Given the description of an element on the screen output the (x, y) to click on. 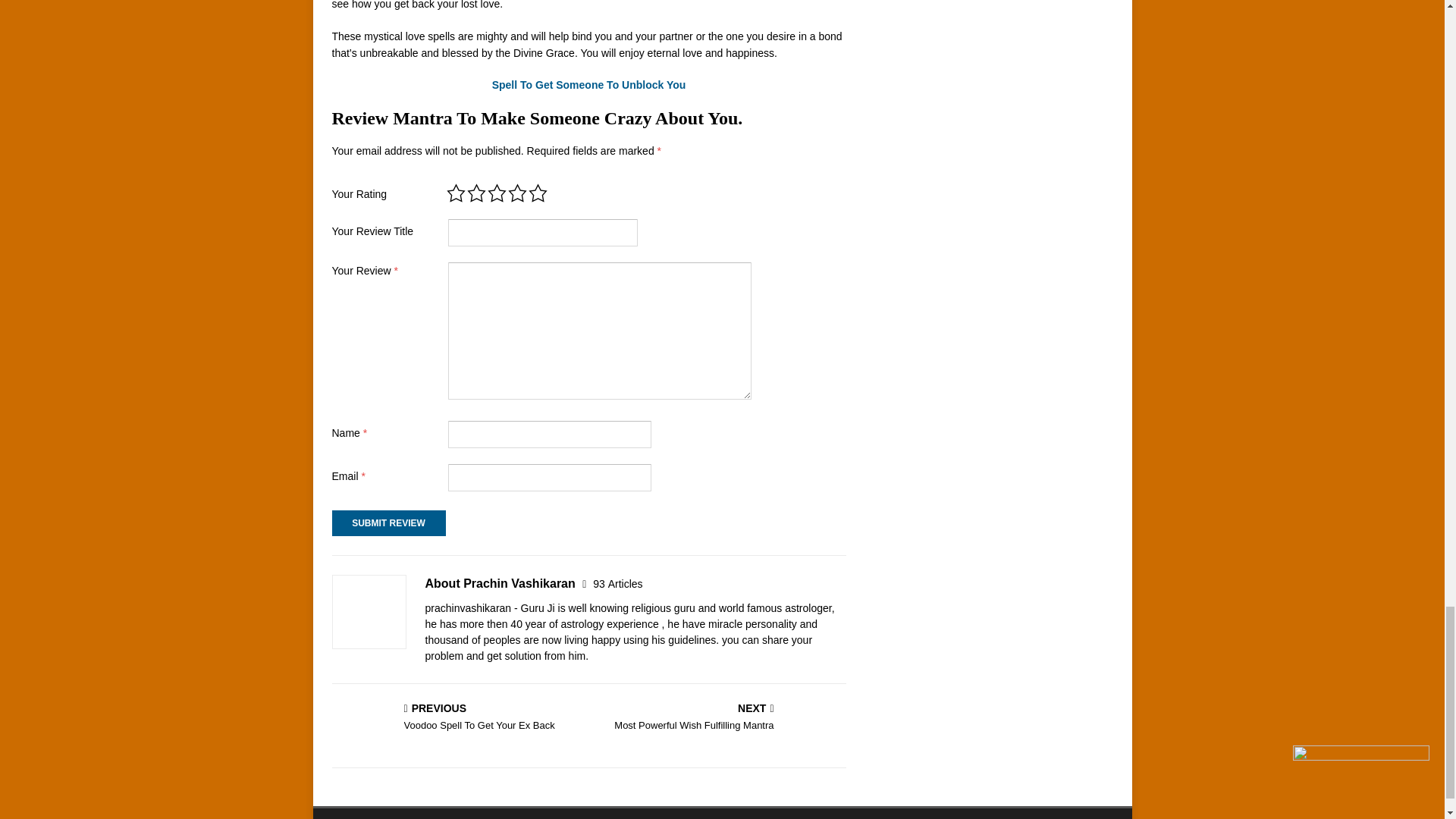
Submit Review (388, 523)
93 Articles (720, 717)
More articles written by Prachin Vashikaran' (617, 583)
Submit Review (617, 583)
Spell To Get Someone To Unblock You (457, 717)
